Given the description of an element on the screen output the (x, y) to click on. 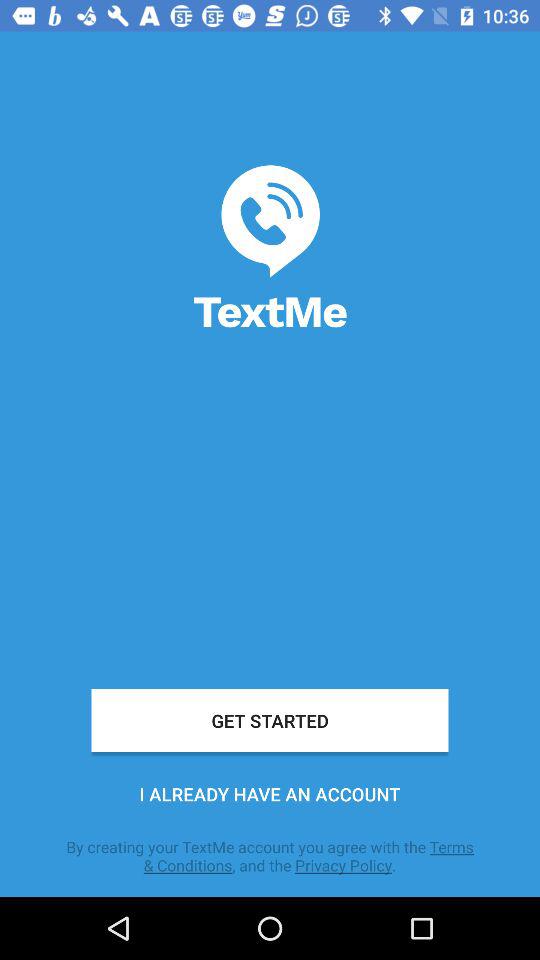
scroll until the by creating your item (270, 856)
